Given the description of an element on the screen output the (x, y) to click on. 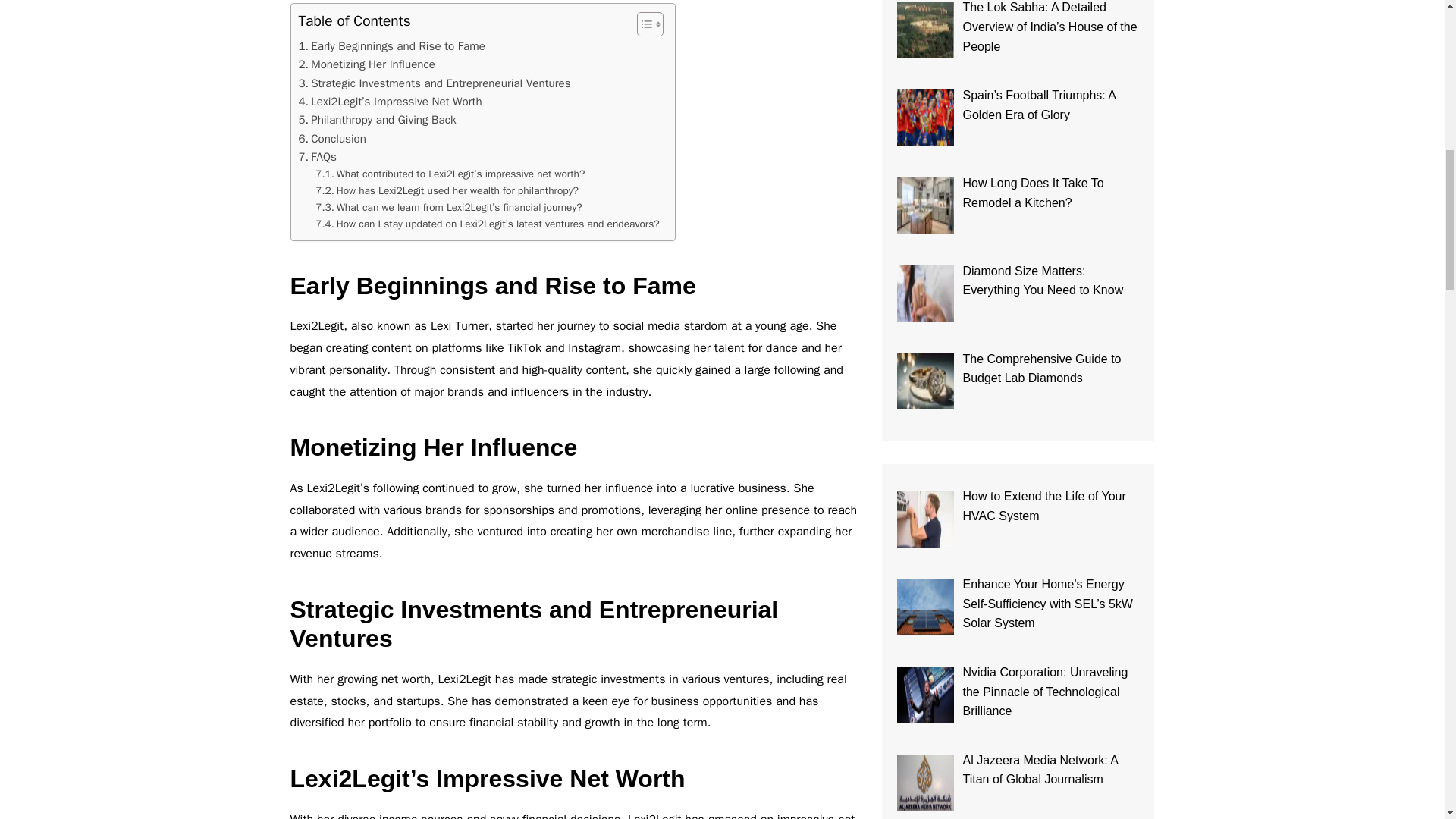
Conclusion (332, 138)
How has Lexi2Legit used her wealth for philanthropy? (446, 190)
Strategic Investments and Entrepreneurial Ventures (434, 83)
Monetizing Her Influence (366, 64)
How has Lexi2Legit used her wealth for philanthropy? (446, 190)
Strategic Investments and Entrepreneurial Ventures (434, 83)
Philanthropy and Giving Back (377, 119)
Conclusion (332, 138)
Philanthropy and Giving Back (377, 119)
Early Beginnings and Rise to Fame (391, 45)
